Given the description of an element on the screen output the (x, y) to click on. 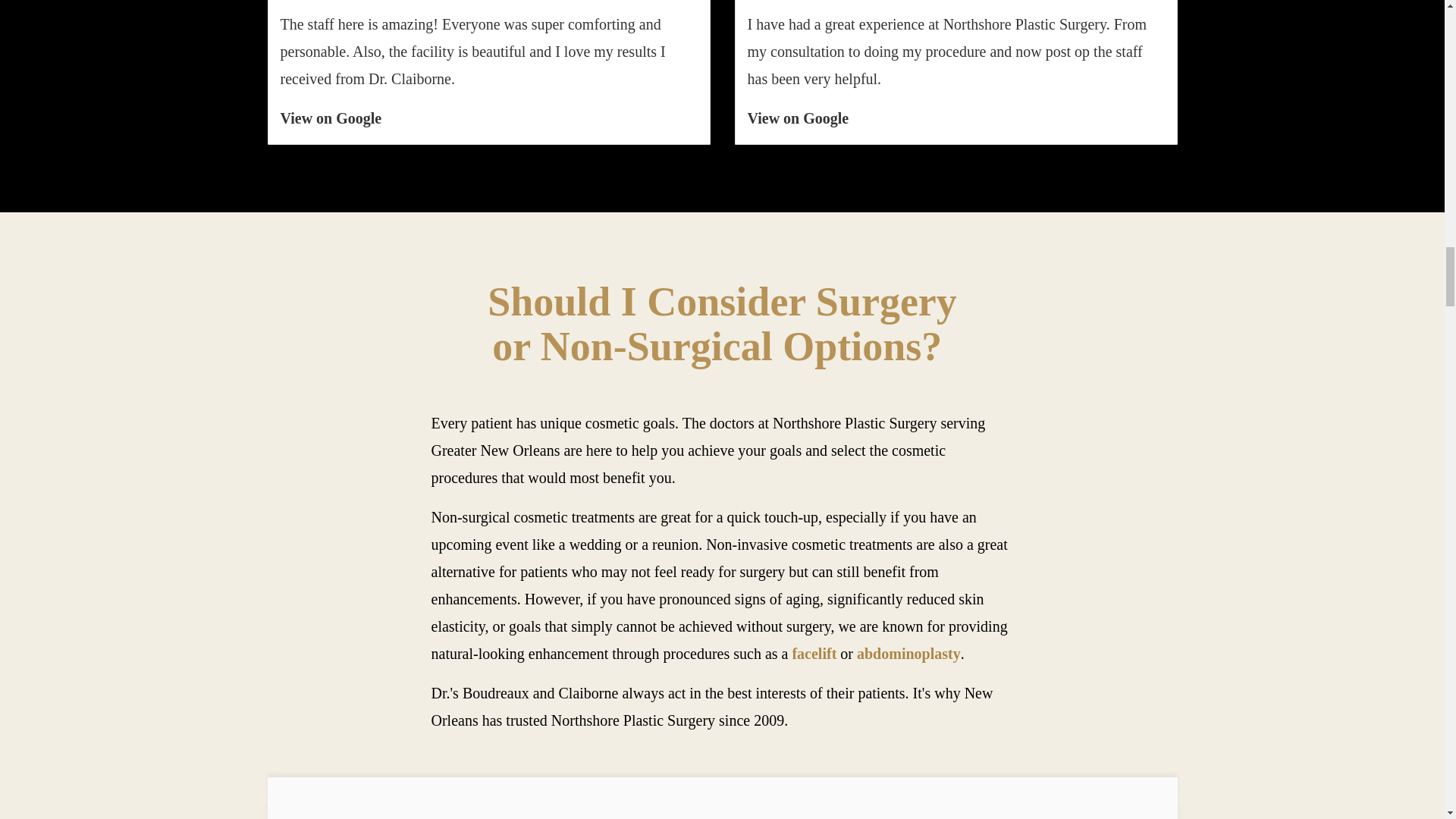
abdominoplasty (908, 653)
View on Google (798, 117)
facelift (813, 653)
View on Google (331, 117)
